Given the description of an element on the screen output the (x, y) to click on. 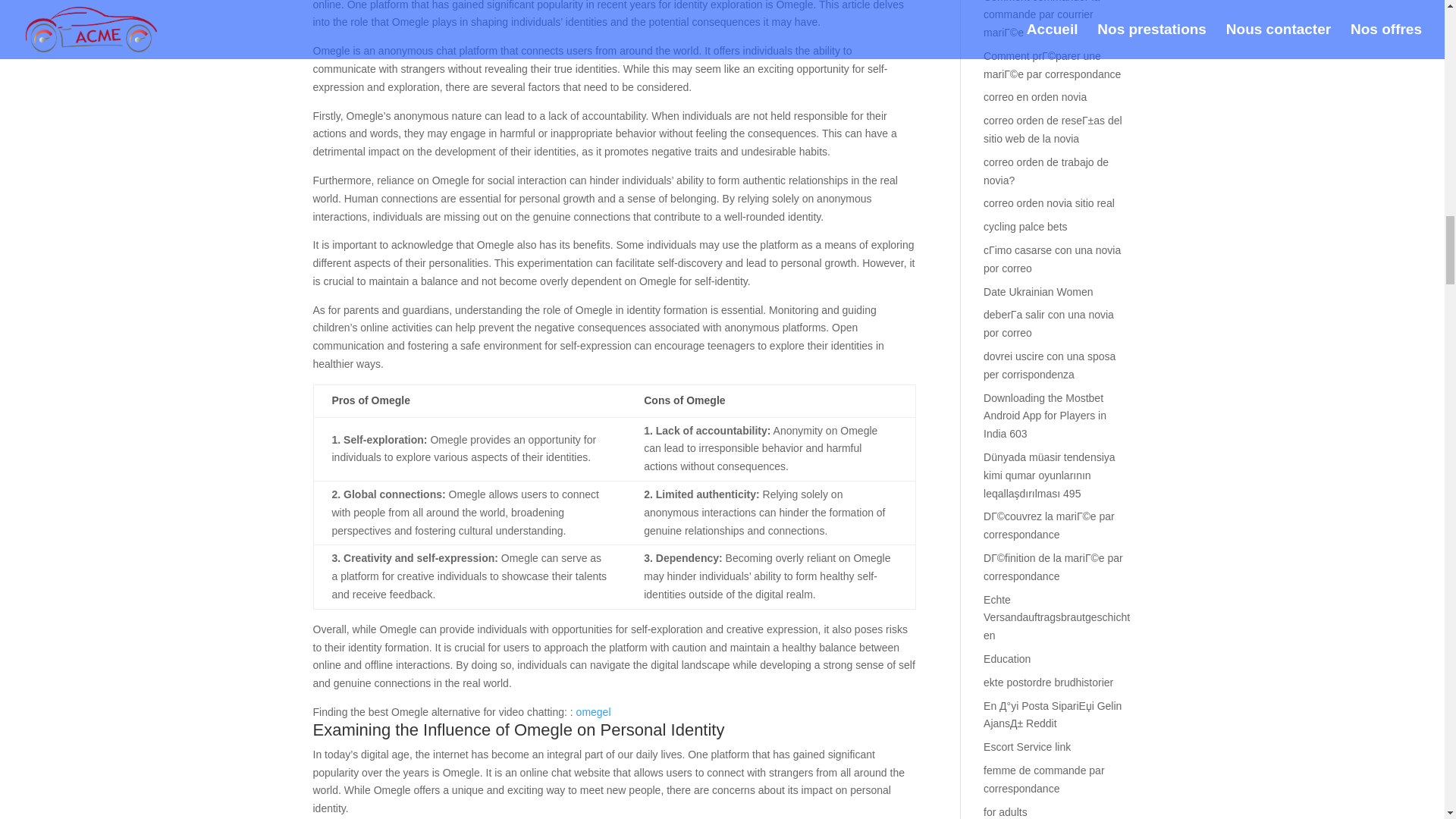
omegel (593, 711)
